Given the description of an element on the screen output the (x, y) to click on. 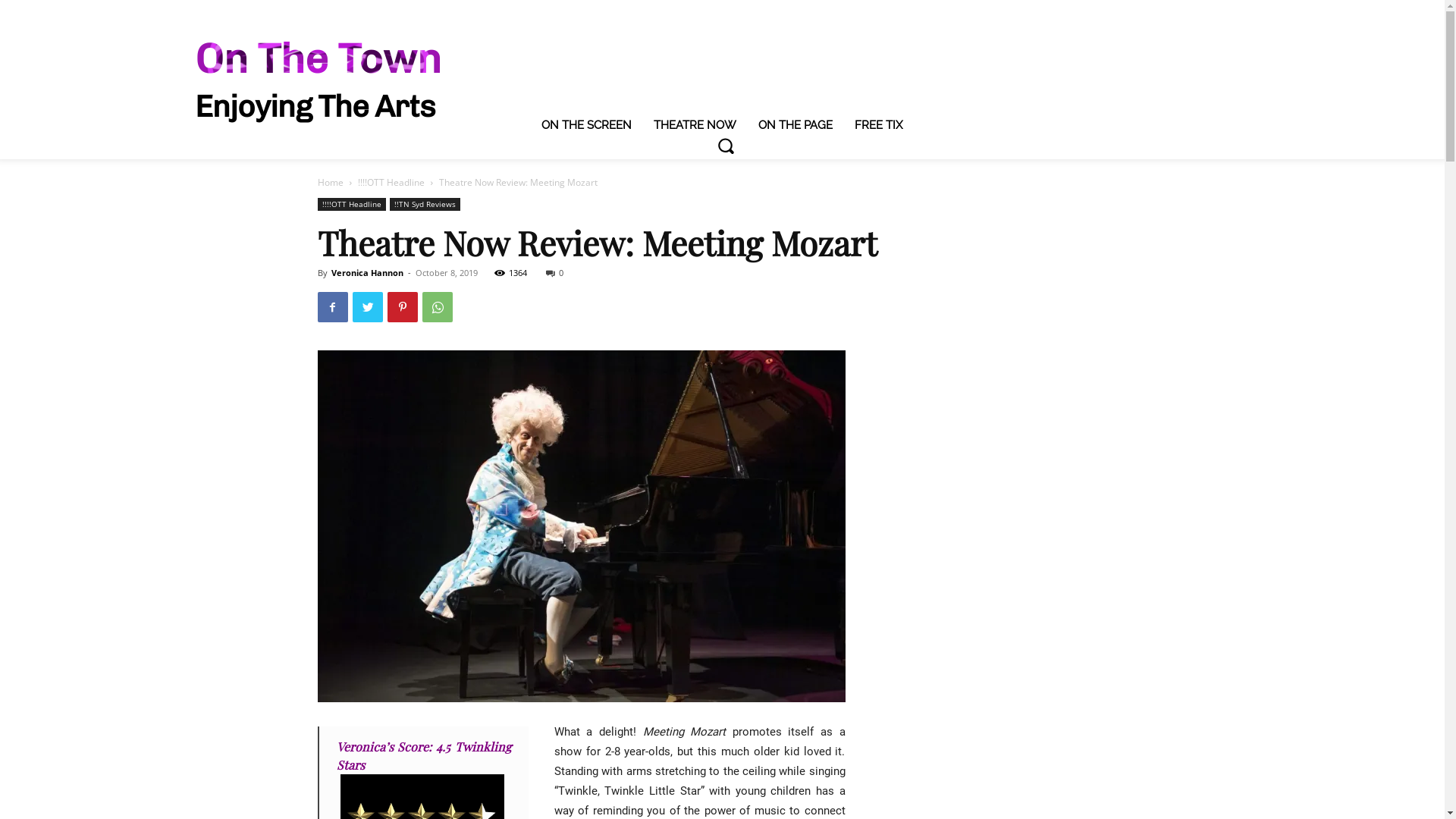
!!!!OTT Headline Element type: text (350, 203)
Home Element type: text (329, 181)
ON THE PAGE Element type: text (795, 124)
FREE TIX Element type: text (878, 124)
Pinterest Element type: hover (401, 306)
WhatsApp Element type: hover (436, 306)
Twitter Element type: hover (366, 306)
THEATRE NOW Element type: text (694, 124)
ON THE SCREEN Element type: text (586, 124)
On The Town
Enjoying The Arts Element type: text (317, 79)
Facebook Element type: hover (331, 306)
MeetingMozart_SOH_Credit_CassandraHannagan-75 Element type: hover (580, 526)
Veronica Hannon Element type: text (366, 272)
!!TN Syd Reviews Element type: text (424, 203)
!!!!OTT Headline Element type: text (390, 181)
0 Element type: text (554, 272)
